Given the description of an element on the screen output the (x, y) to click on. 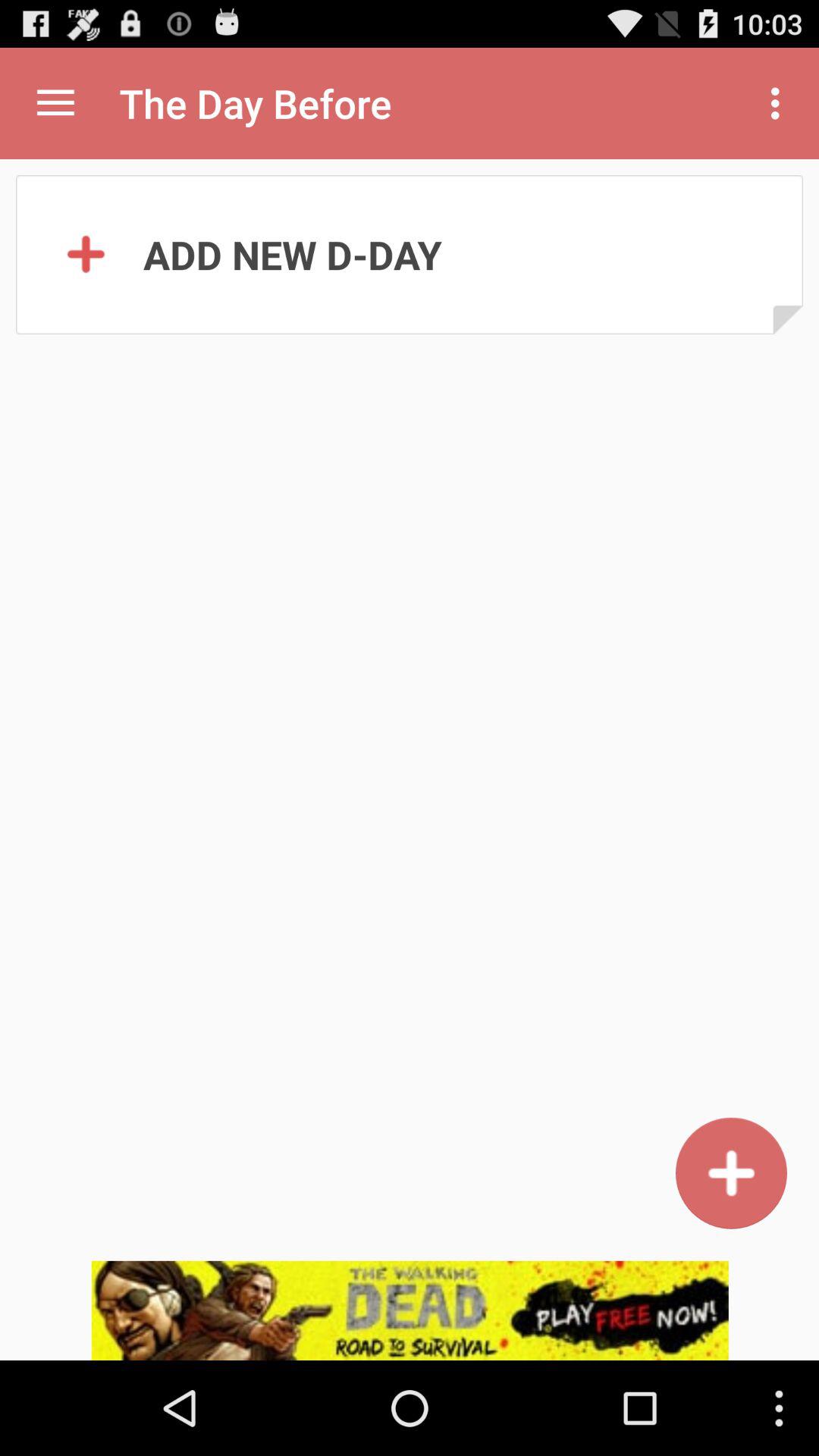
add something (731, 1173)
